Given the description of an element on the screen output the (x, y) to click on. 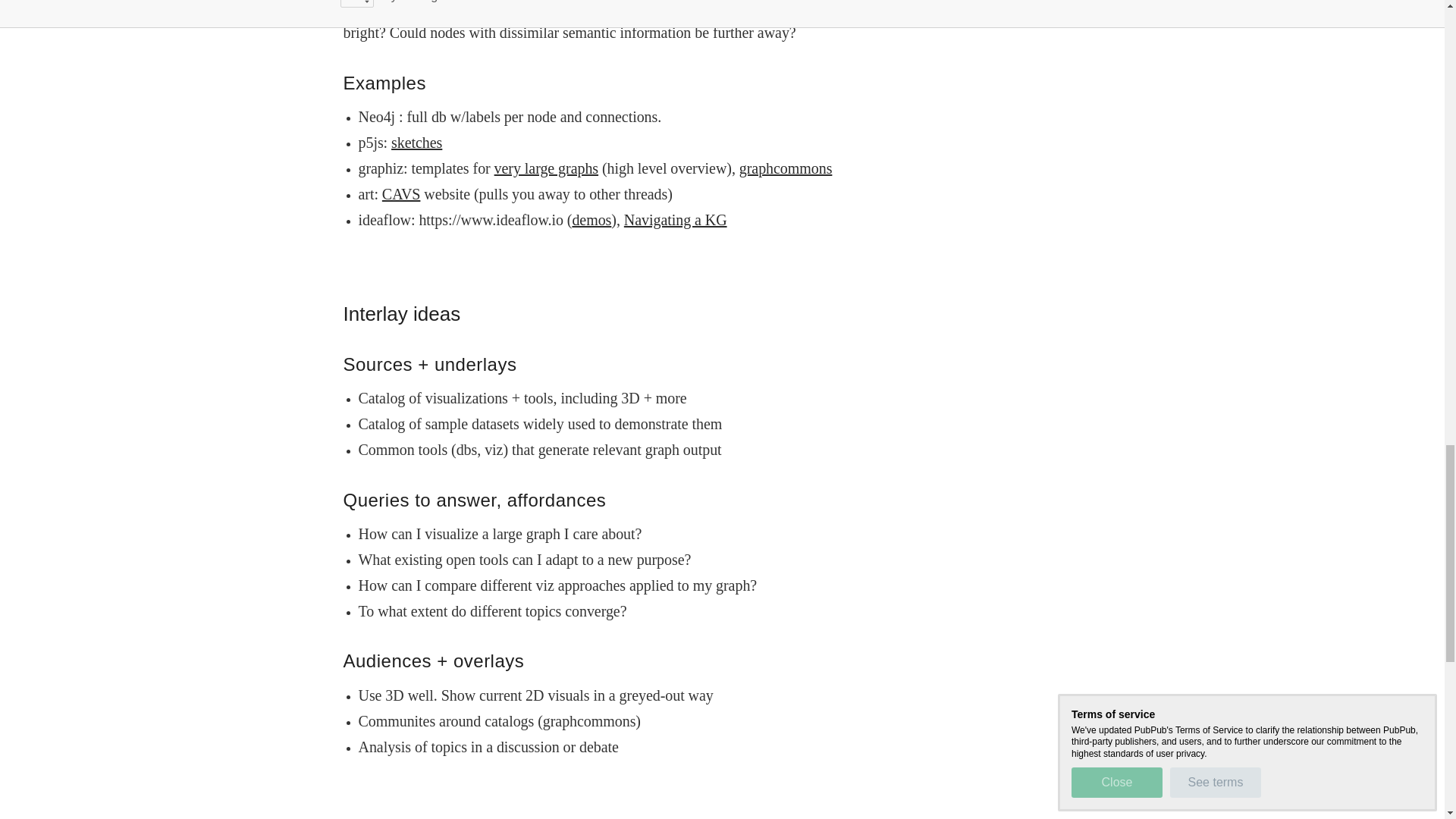
very large graphs (546, 167)
graphcommons (785, 167)
sketches (416, 142)
demos (591, 219)
Navigating a KG (675, 219)
CAVS (400, 193)
